Given the description of an element on the screen output the (x, y) to click on. 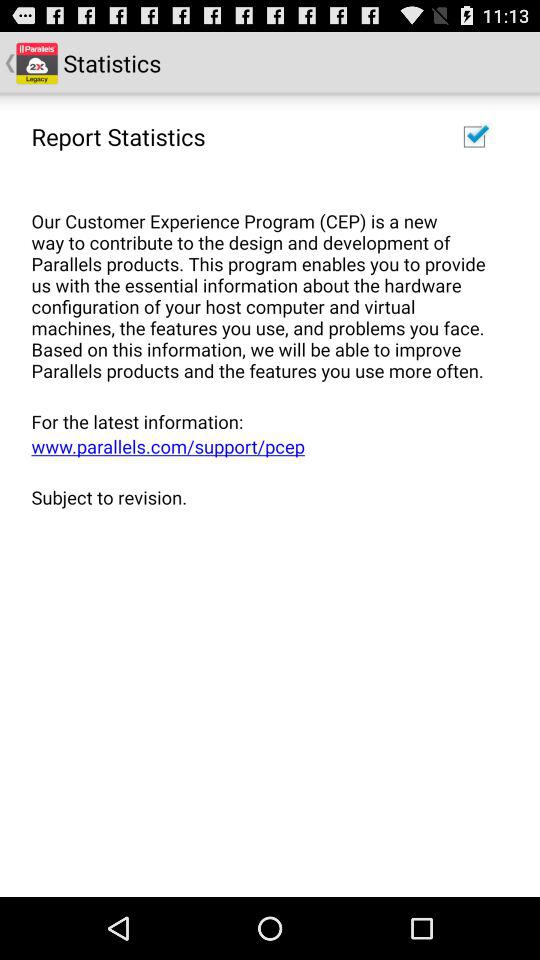
press app next to the report statistics (474, 136)
